Given the description of an element on the screen output the (x, y) to click on. 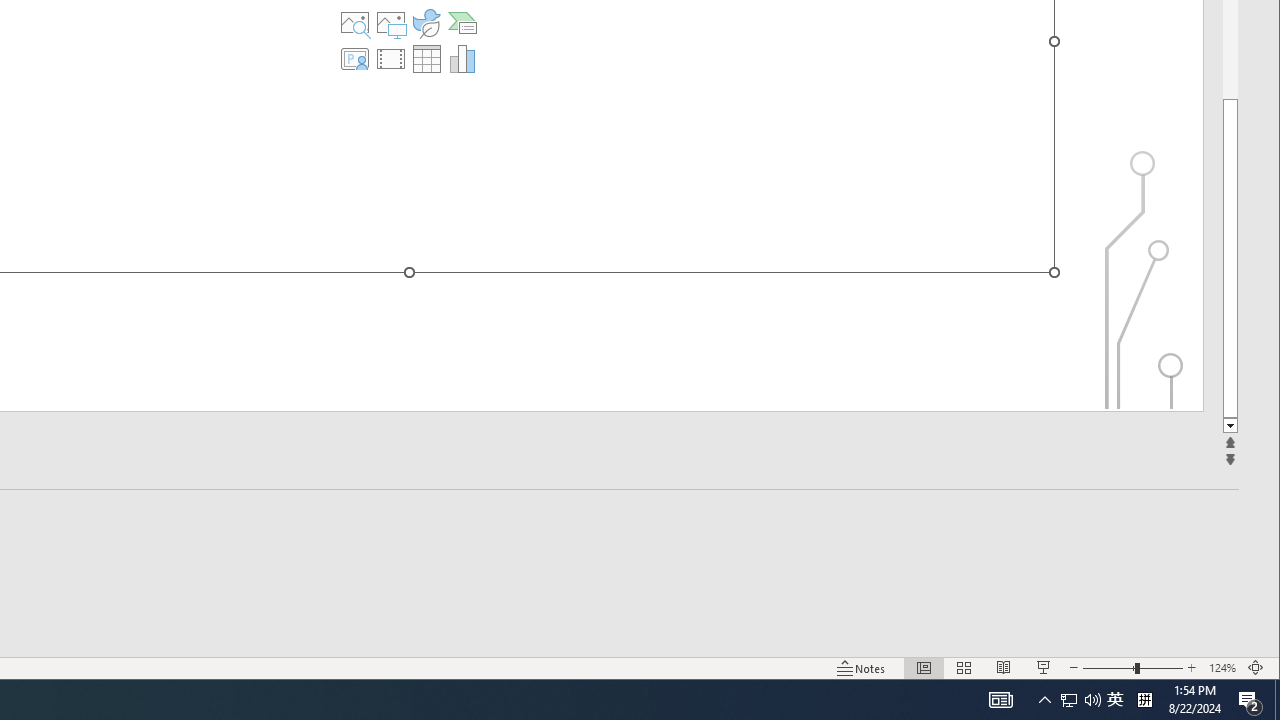
Zoom 124% (1222, 668)
